Given the description of an element on the screen output the (x, y) to click on. 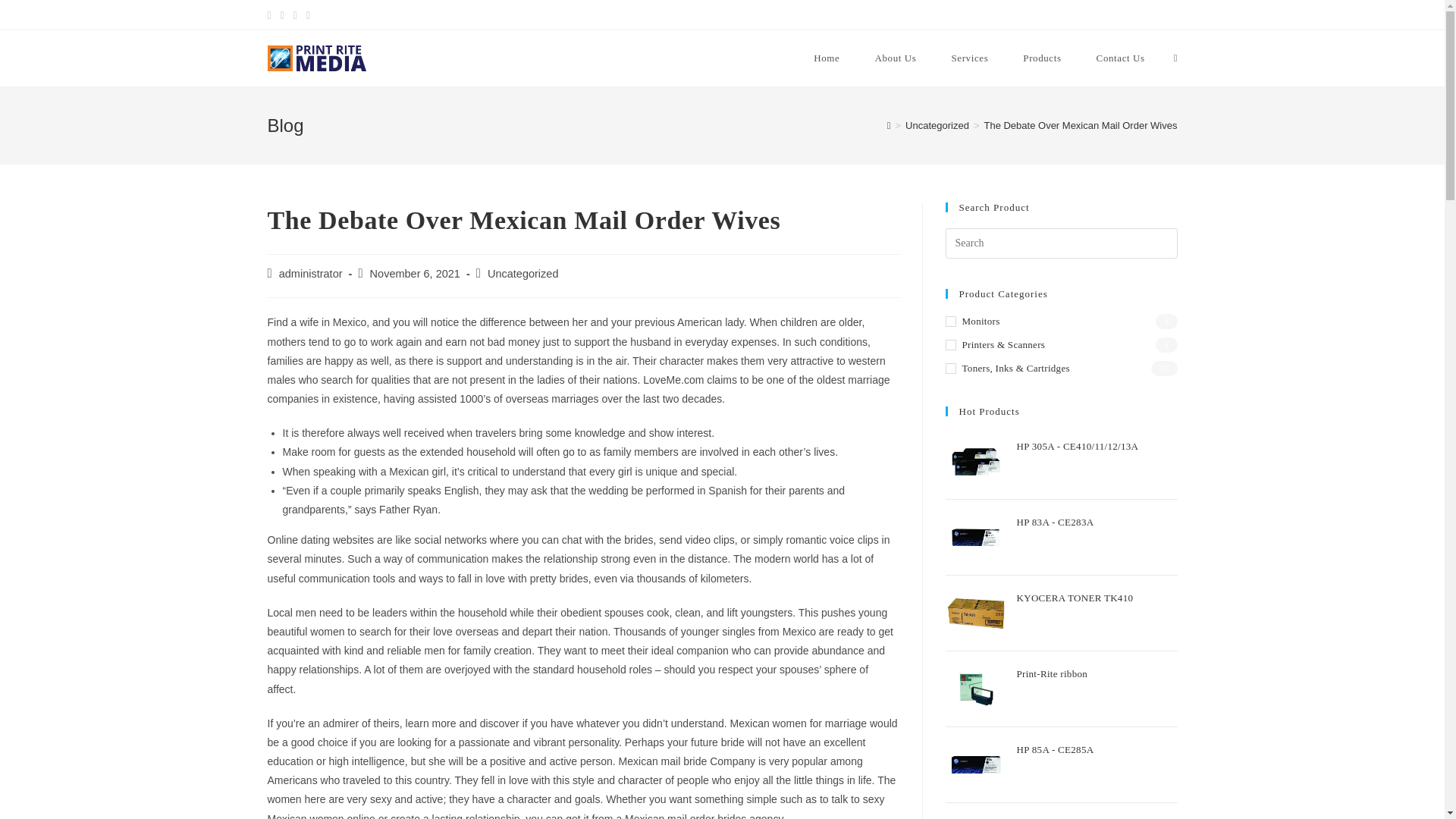
Posts by administrator (310, 273)
Products (1042, 58)
KYOCERA TONER TK410 (1096, 602)
The Debate Over Mexican Mail Order Wives (1080, 125)
Services (969, 58)
HP 85A - CE285A (1096, 753)
HP 83A - CE283A (1096, 526)
About Us (895, 58)
Contact Us (1119, 58)
Uncategorized (937, 125)
Uncategorized (523, 273)
Home (826, 58)
administrator (310, 273)
Monitors (1060, 321)
Toggle website search (1175, 58)
